Given the description of an element on the screen output the (x, y) to click on. 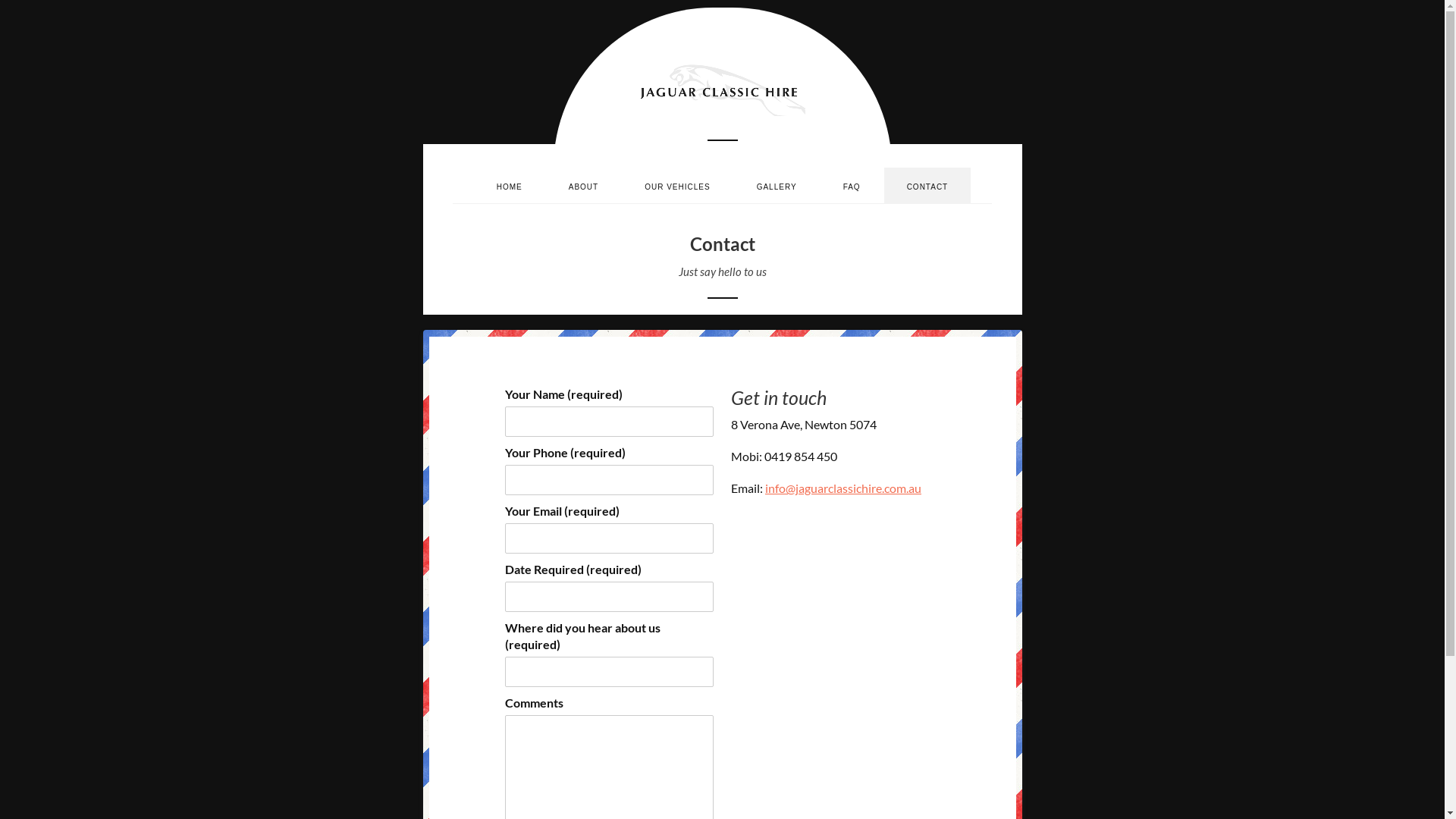
ABOUT Element type: text (583, 185)
HOME Element type: text (509, 185)
CONTACT Element type: text (927, 185)
FAQ Element type: text (851, 185)
info@jaguarclassichire.com.au Element type: text (843, 487)
OUR VEHICLES Element type: text (676, 185)
GALLERY Element type: text (776, 185)
